Given the description of an element on the screen output the (x, y) to click on. 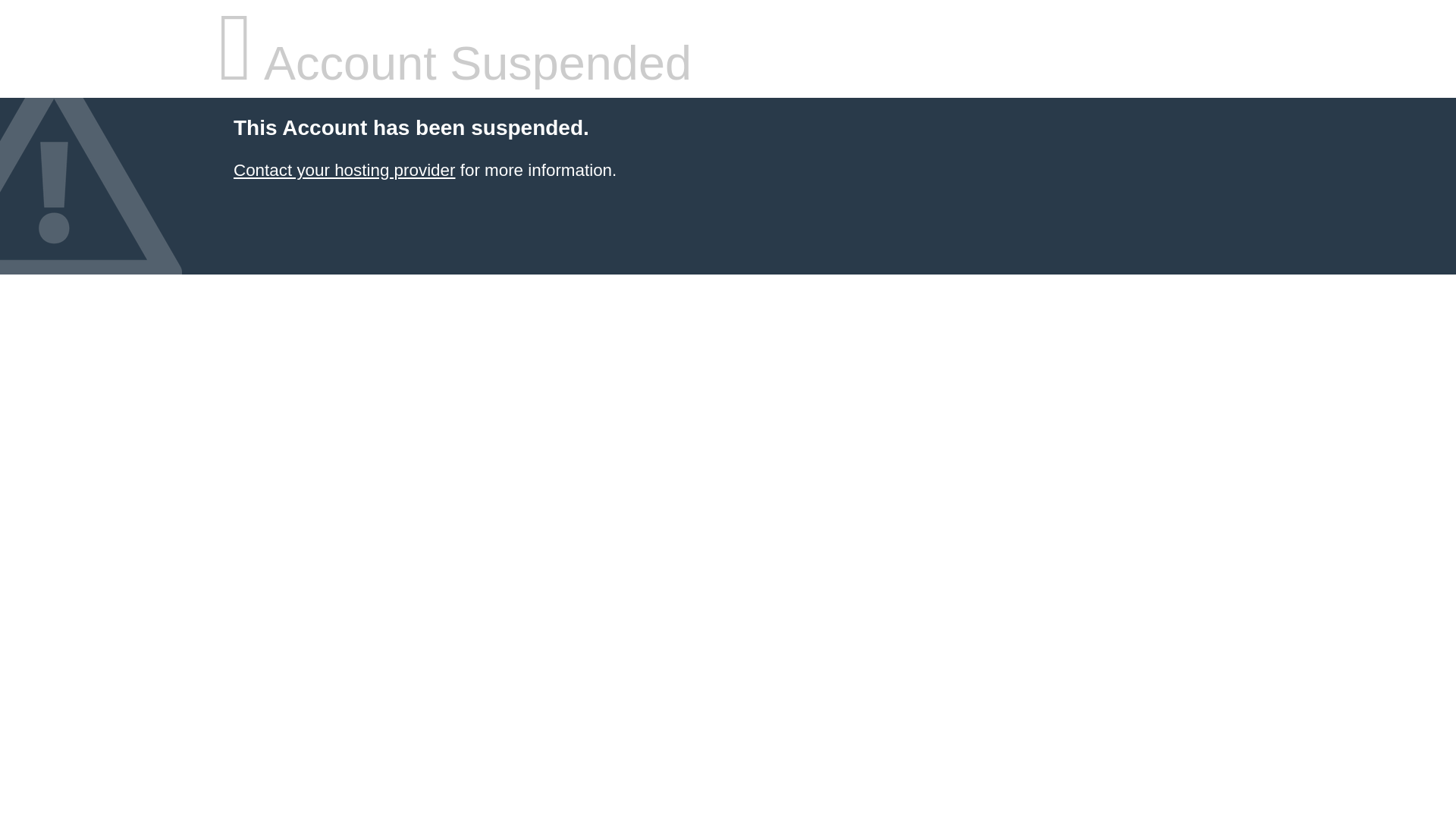
Contact your hosting provider (343, 169)
